Given the description of an element on the screen output the (x, y) to click on. 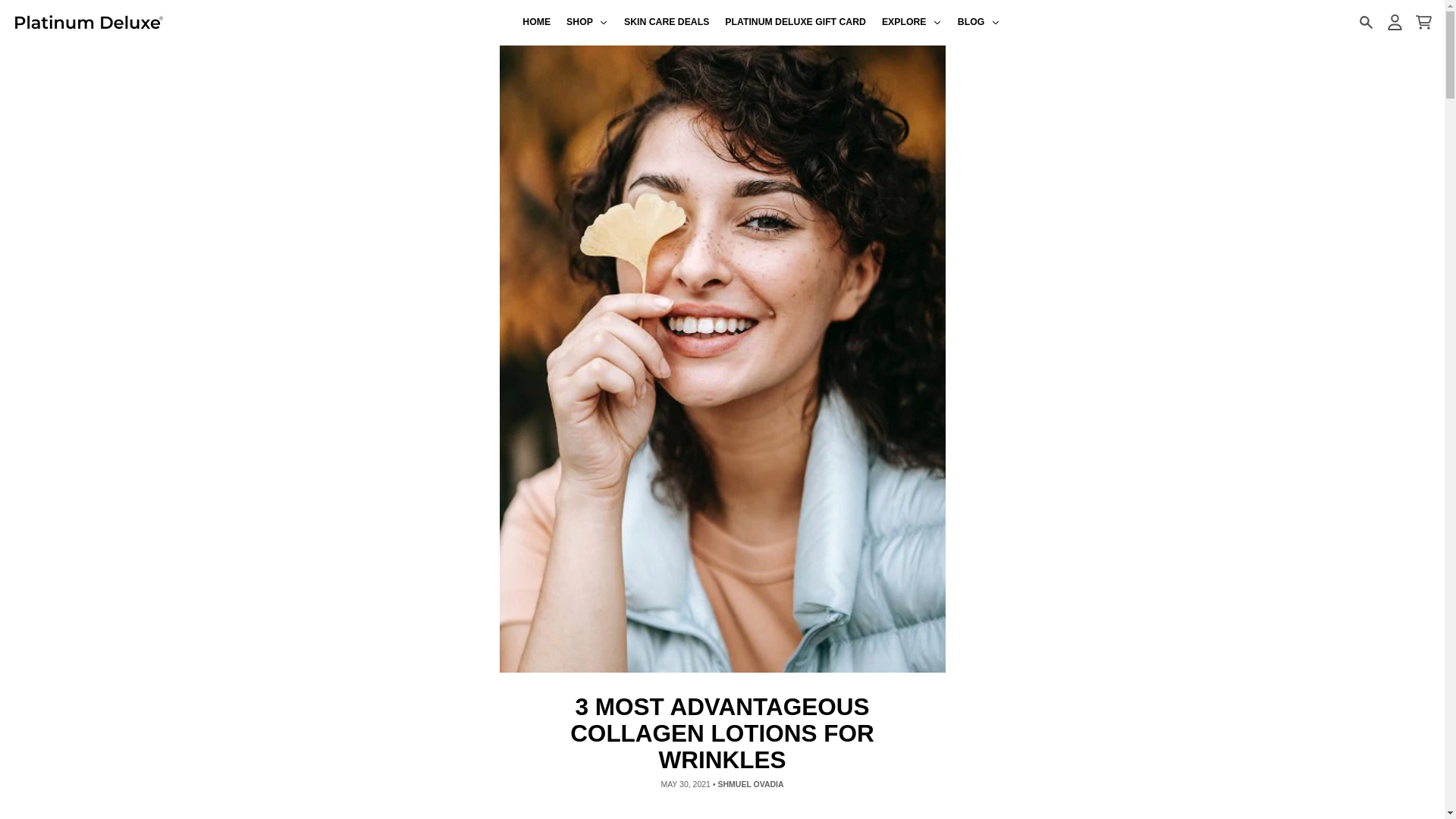
PLATINUM DELUXE GIFT CARD (796, 22)
HOME (537, 22)
Cart (1423, 22)
Skip to content (18, 7)
Search (1364, 22)
SKIN CARE DEALS (666, 22)
Account (1394, 22)
